Given the description of an element on the screen output the (x, y) to click on. 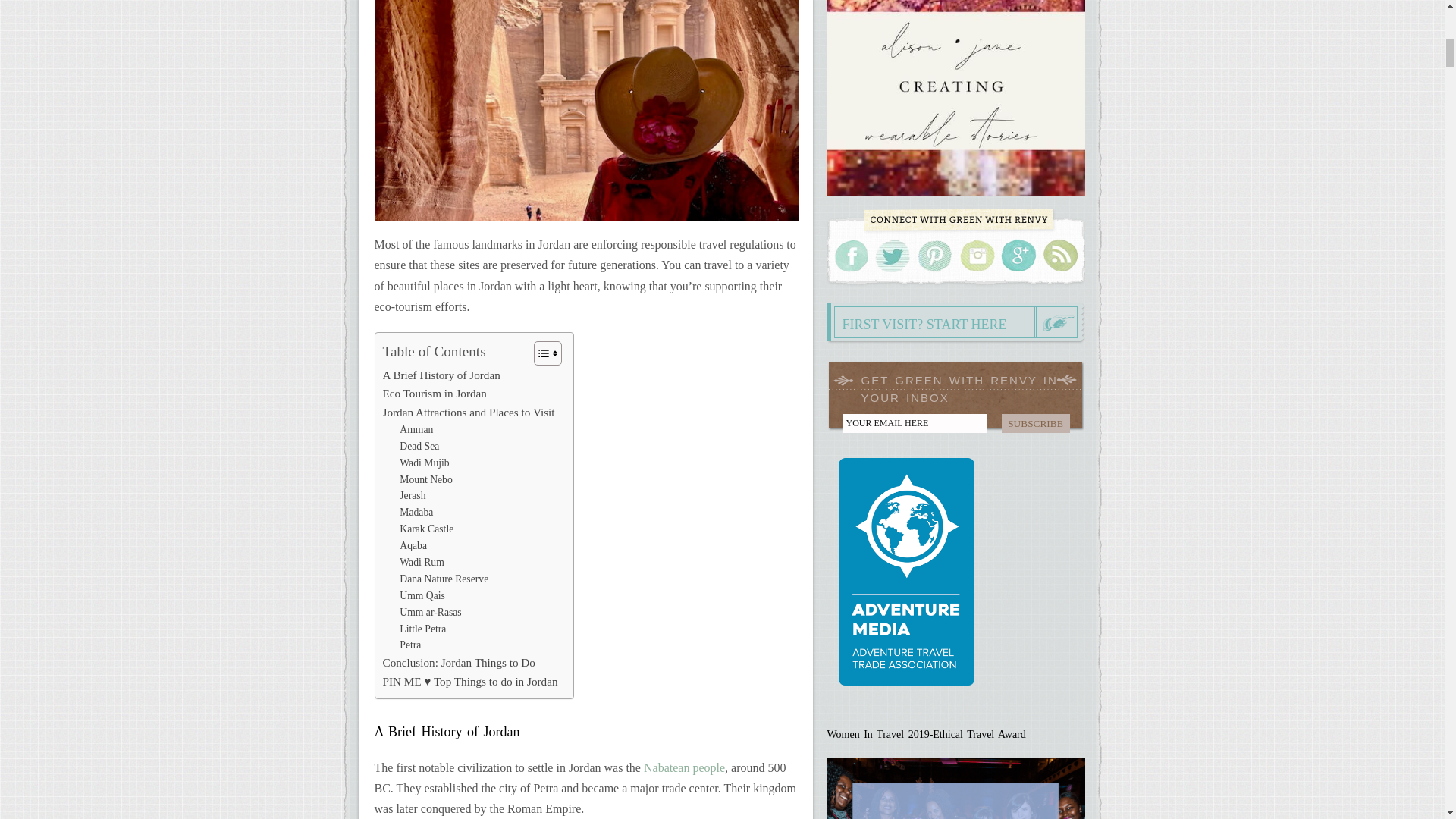
Dead Sea (418, 446)
Jerash (411, 495)
Your email here (913, 423)
Jordan Attractions and Places to Visit (467, 412)
Jordan Attractions and Places to Visit (467, 412)
Wadi Mujib (423, 463)
Your email here (913, 423)
Amman (415, 429)
Madaba (415, 512)
Amman (415, 429)
